Given the description of an element on the screen output the (x, y) to click on. 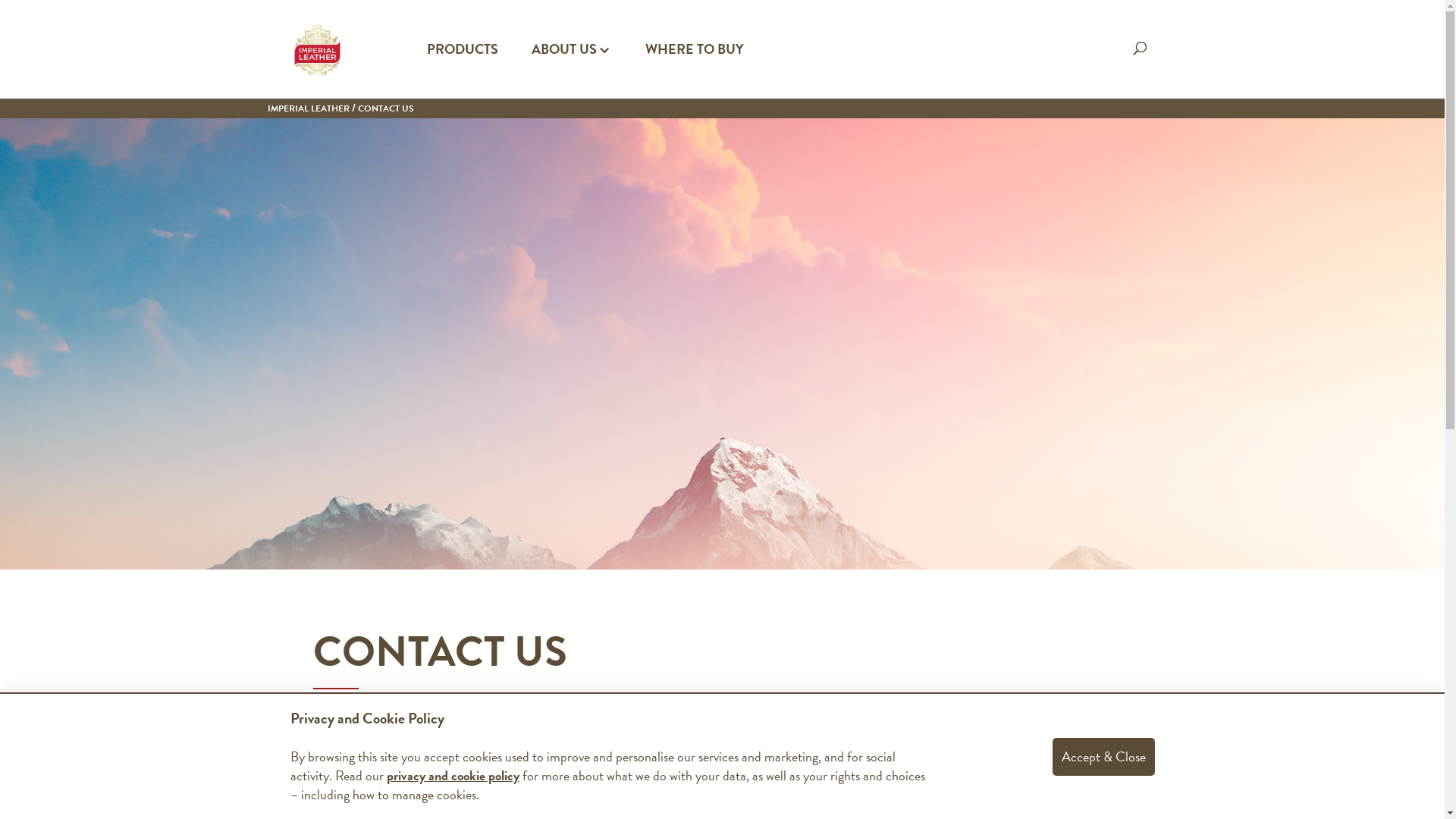
IMPERIAL LEATHER Element type: text (307, 108)
PRODUCTS Element type: text (461, 70)
ABOUT US Element type: text (570, 70)
WHERE TO BUY Element type: text (693, 70)
Mountains image Element type: hover (722, 343)
privacy and cookie policy Element type: text (452, 775)
Accept & Close Element type: text (1103, 756)
Skip to content Element type: text (0, 0)
